Given the description of an element on the screen output the (x, y) to click on. 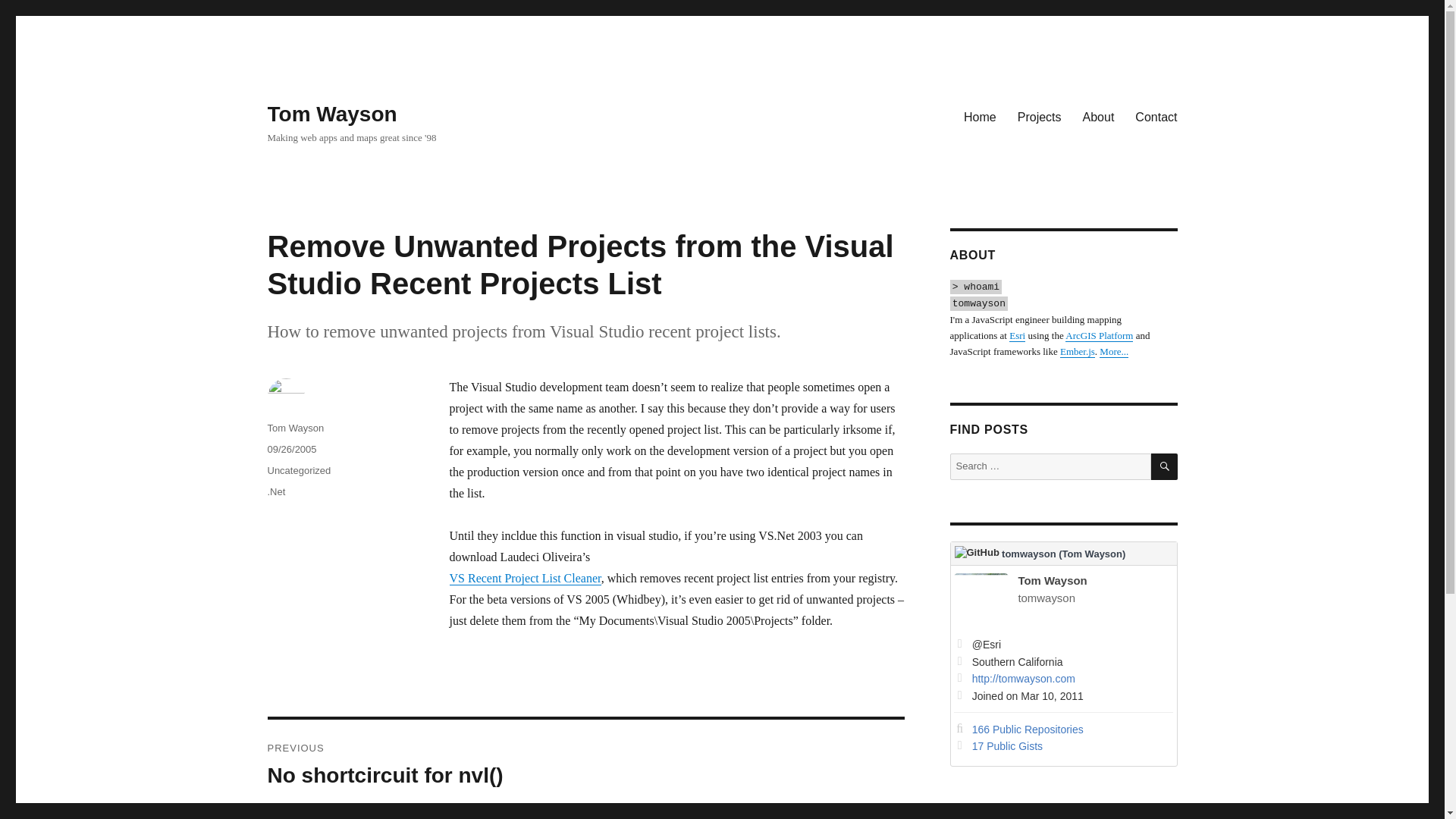
SEARCH (1164, 466)
Tom Wayson (294, 428)
Home (980, 116)
Esri (1017, 335)
.Net (275, 491)
View profile (1020, 600)
About Tom Wayson (1098, 116)
Ember.js (1076, 351)
View profile (1063, 554)
Contact Tom Wayson (1156, 116)
